Given the description of an element on the screen output the (x, y) to click on. 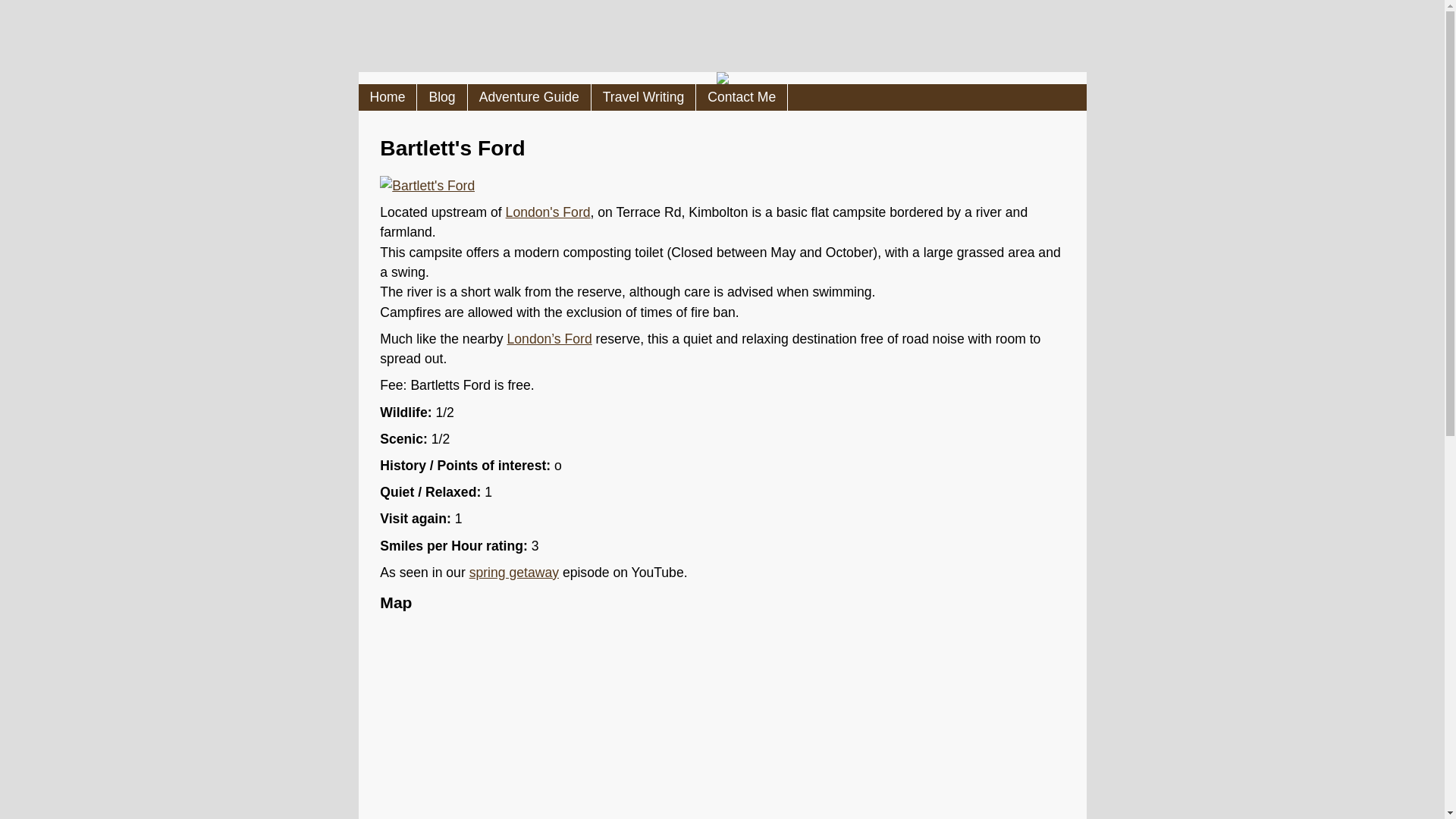
Travel Writing (644, 97)
Adventure Guide (529, 97)
Home (387, 97)
spring getaway (513, 572)
Contact Me (741, 97)
Bartlett's Ford (427, 185)
Blog (441, 97)
London's Ford (548, 212)
